Given the description of an element on the screen output the (x, y) to click on. 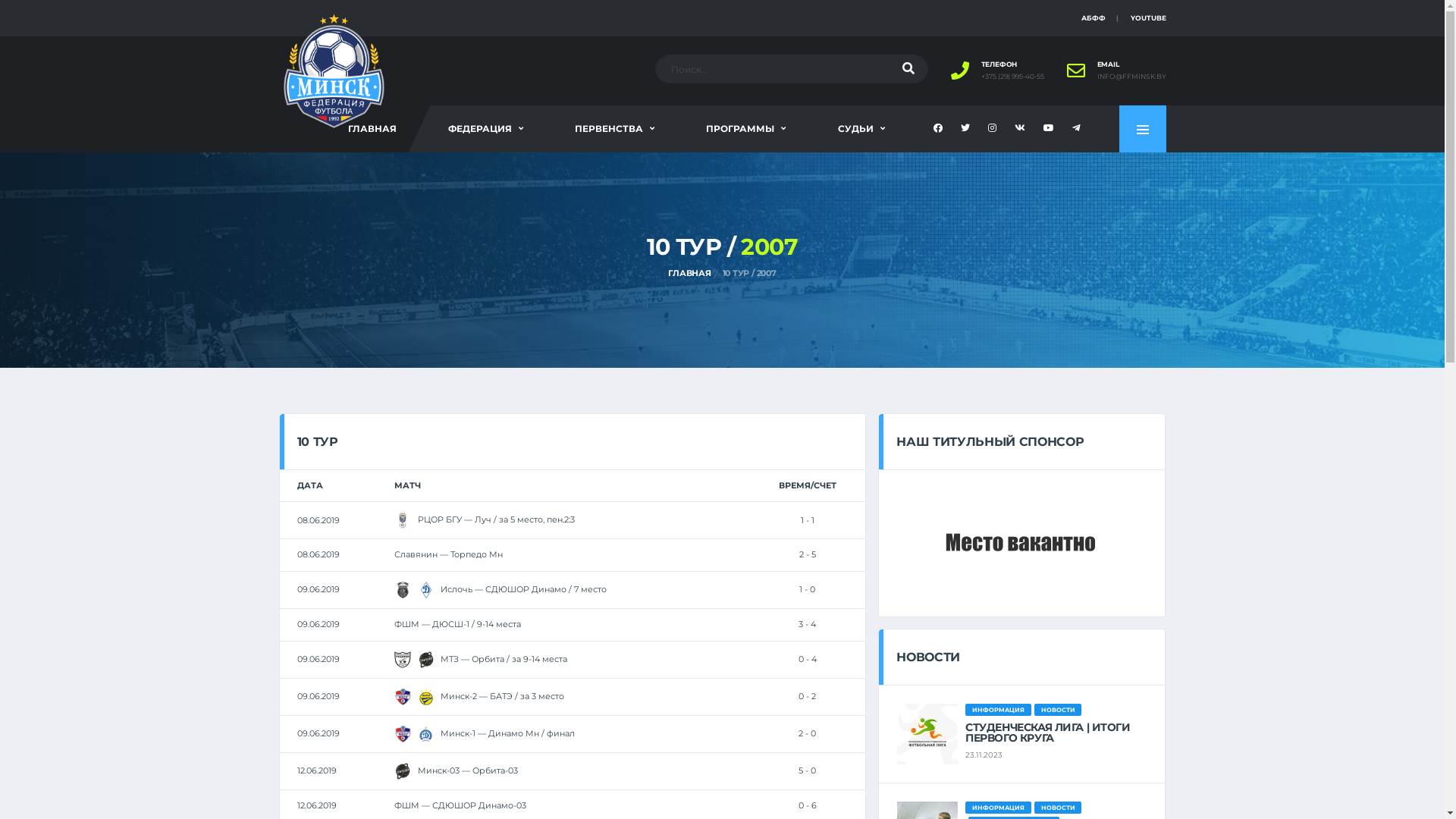
YOUTUBE Element type: text (1147, 18)
09.06.2019 Element type: text (318, 588)
2 - 5 Element type: text (807, 554)
09.06.2019 Element type: text (318, 623)
1 - 1 Element type: text (807, 519)
1 - 0 Element type: text (807, 588)
12.06.2019 Element type: text (316, 805)
INFO@FFMINSK.BY Element type: text (1130, 76)
0 - 4 Element type: text (807, 658)
08.06.2019 Element type: text (318, 554)
5 - 0 Element type: text (806, 770)
08.06.2019 Element type: text (318, 519)
+375 (29) 995-40-55 Element type: text (1012, 76)
09.06.2019 Element type: text (318, 658)
3 - 4 Element type: text (806, 623)
2 - 0 Element type: text (806, 733)
0 - 2 Element type: text (806, 695)
09.06.2019 Element type: text (318, 695)
0 - 6 Element type: text (807, 805)
09.06.2019 Element type: text (318, 733)
12.06.2019 Element type: text (316, 770)
